Given the description of an element on the screen output the (x, y) to click on. 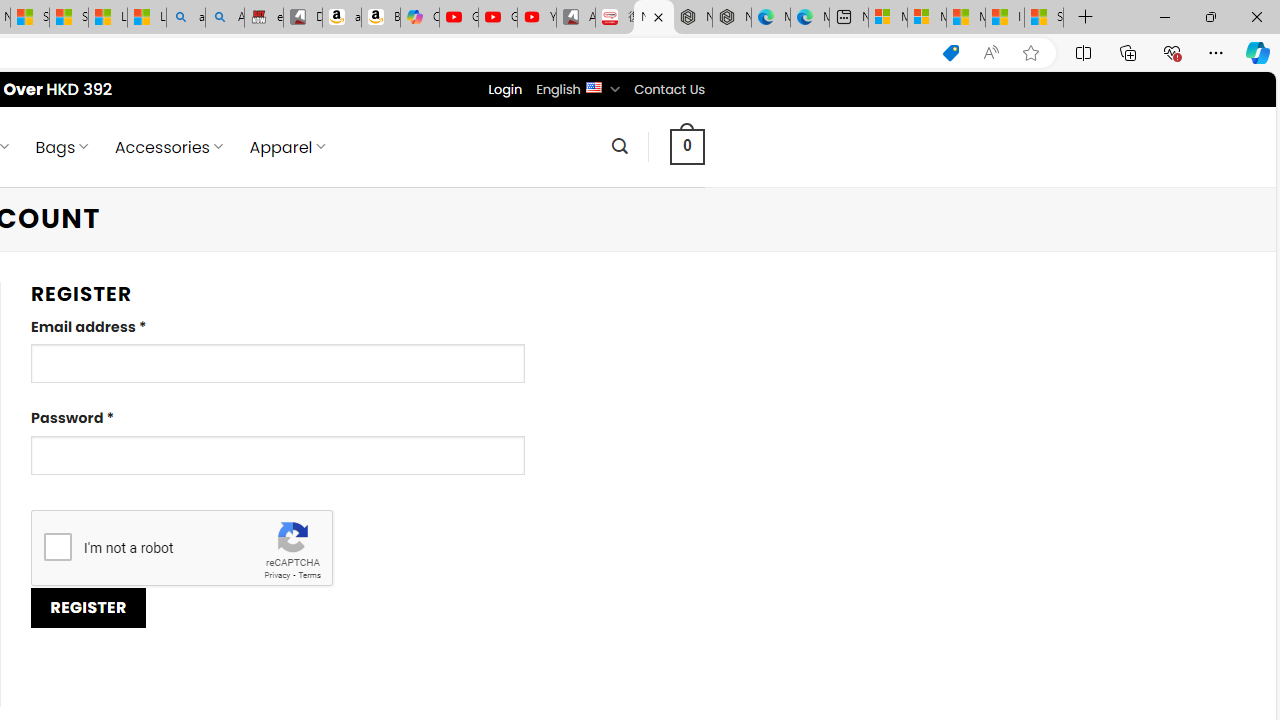
Terms (309, 575)
Amazon Echo Dot PNG - Search Images (225, 17)
Privacy (276, 575)
English (592, 86)
